Given the description of an element on the screen output the (x, y) to click on. 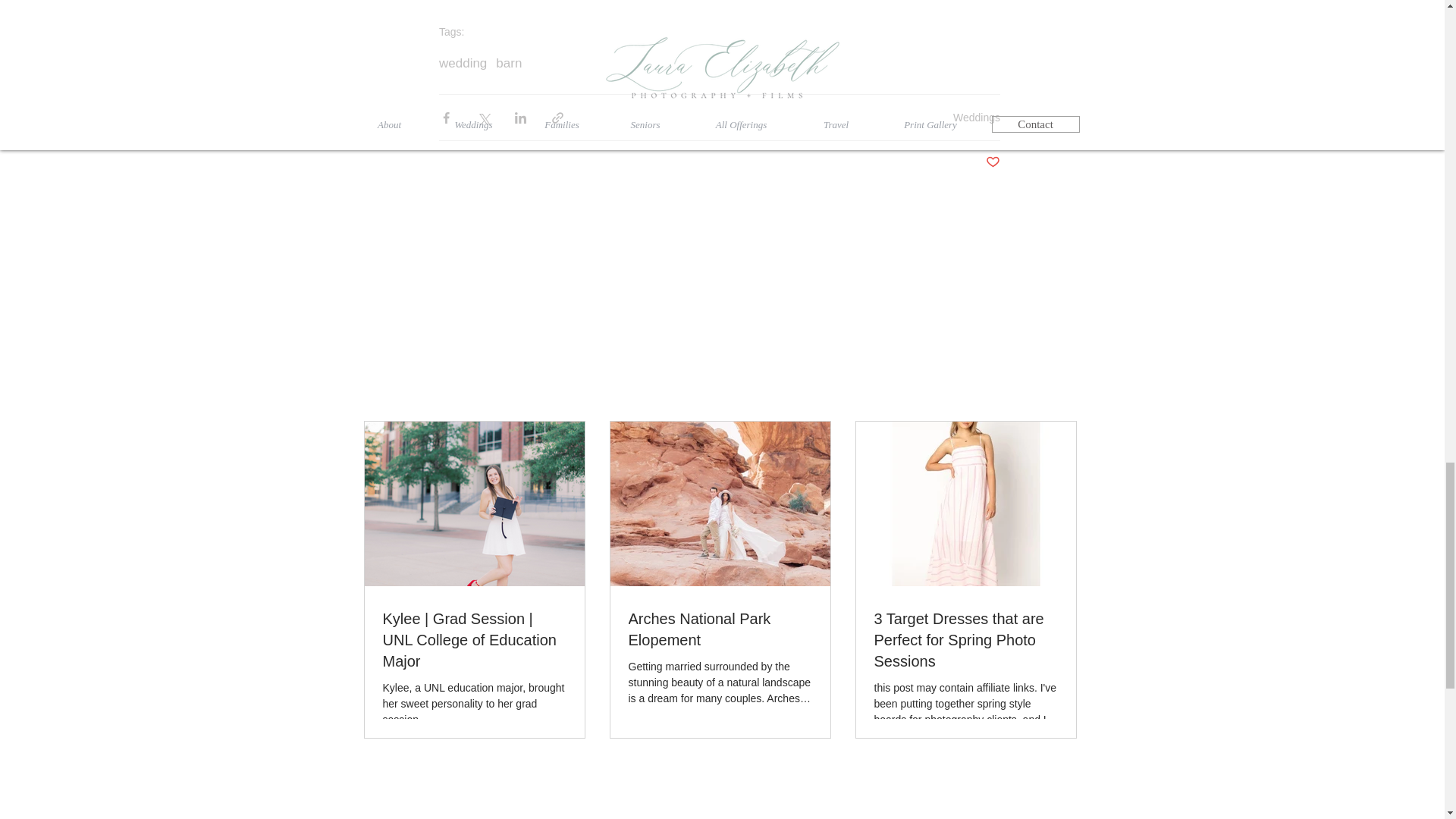
Post not marked as liked (992, 162)
barn (508, 63)
Weddings (976, 116)
wedding (462, 63)
